Given the description of an element on the screen output the (x, y) to click on. 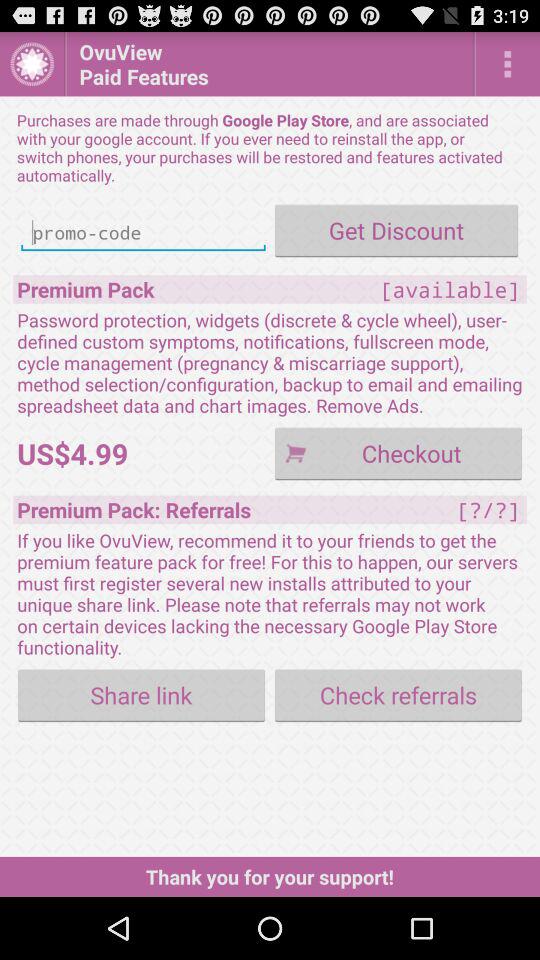
press button next to the share link item (398, 694)
